Given the description of an element on the screen output the (x, y) to click on. 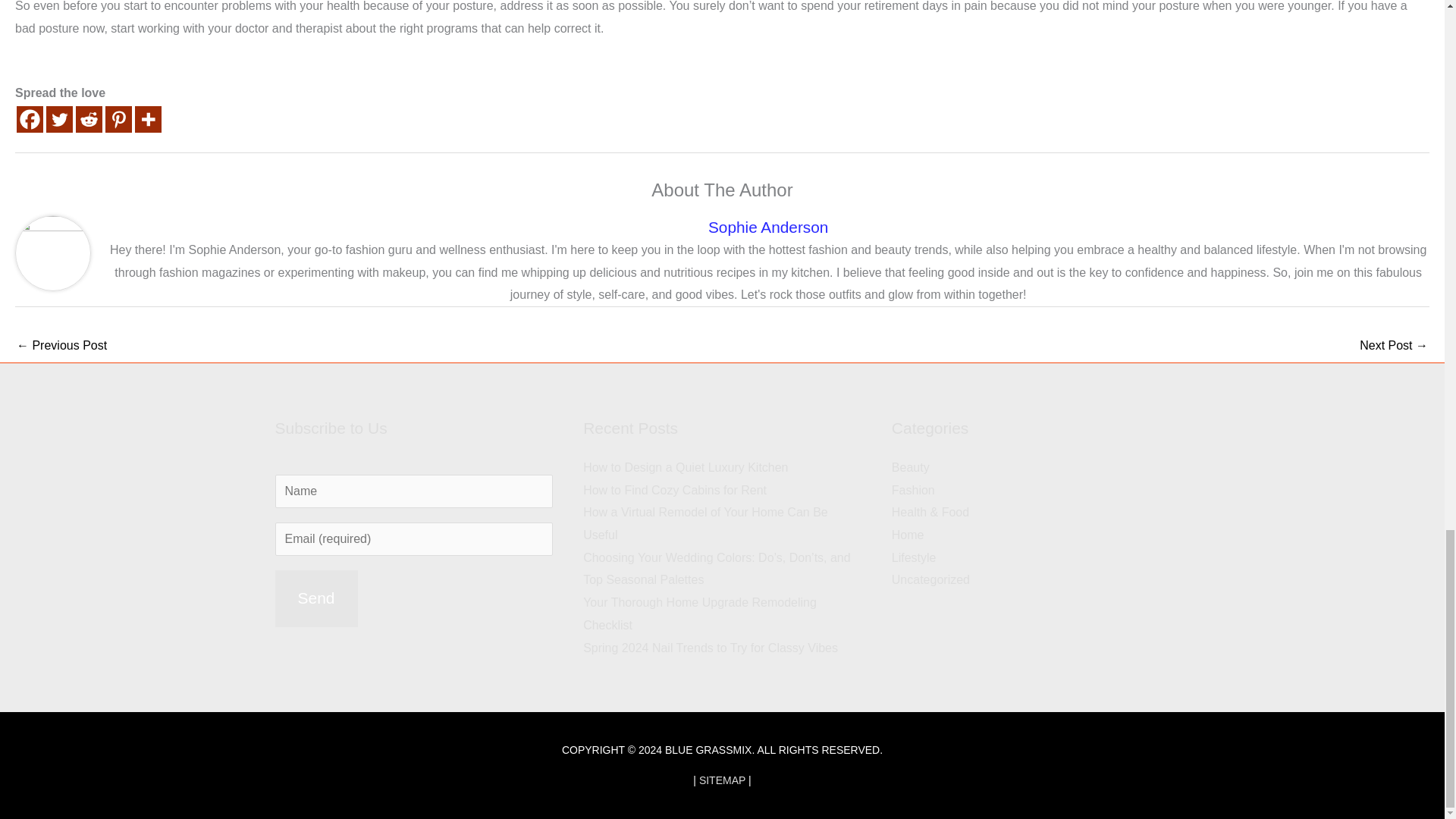
Reddit (88, 119)
Pinterest (118, 119)
More (148, 119)
Send (315, 598)
Your Thorough Home Upgrade Remodeling Checklist (699, 613)
Sophie Anderson (767, 227)
Home (907, 534)
Send (315, 598)
Fashion (912, 490)
